Given the description of an element on the screen output the (x, y) to click on. 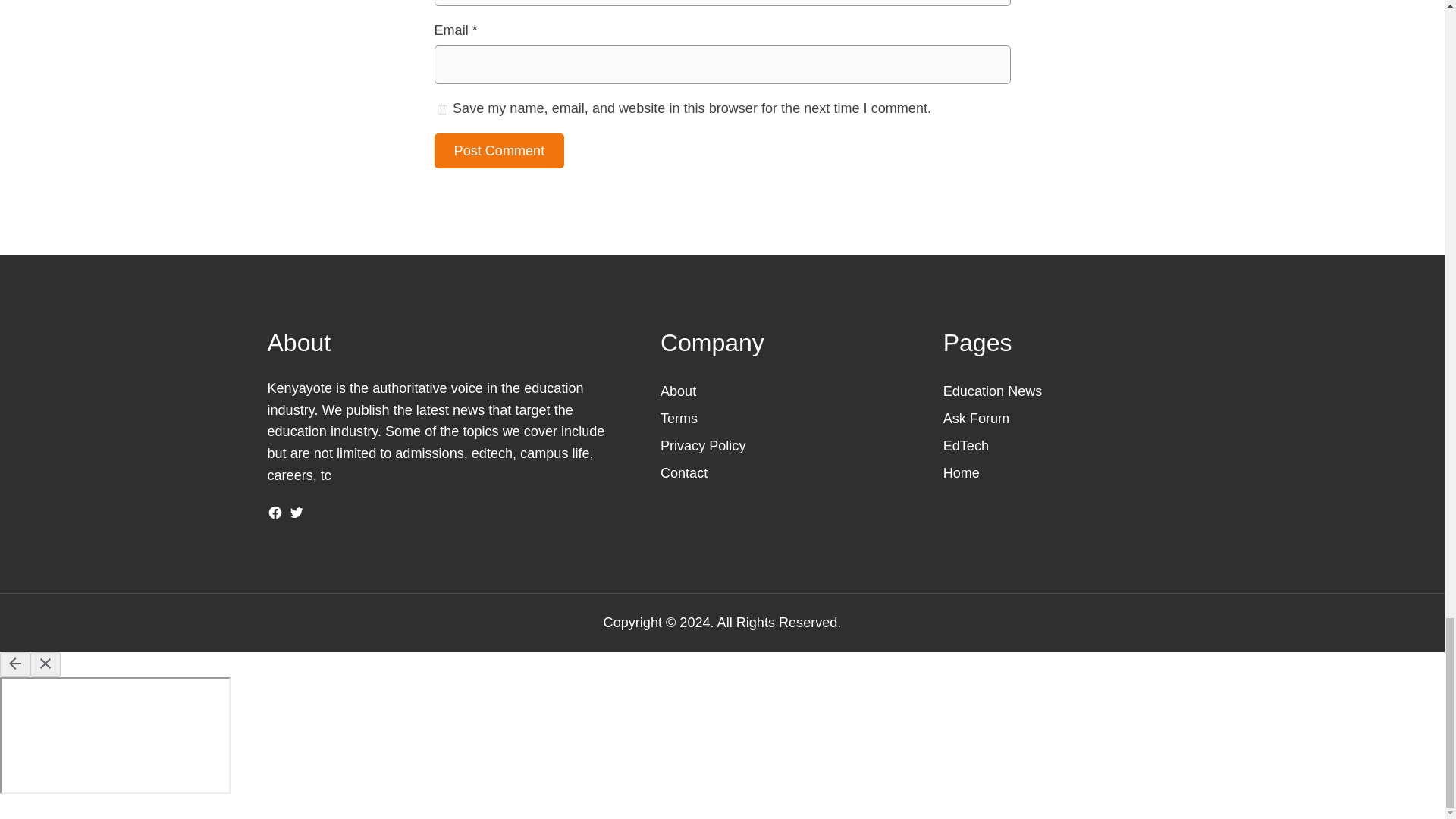
Education News (992, 391)
Home (961, 473)
About (678, 391)
Post Comment (498, 150)
Facebook (274, 512)
Contact (684, 473)
EdTech (965, 445)
Privacy Policy (703, 445)
Ask Forum (976, 418)
Terms (679, 418)
